Given the description of an element on the screen output the (x, y) to click on. 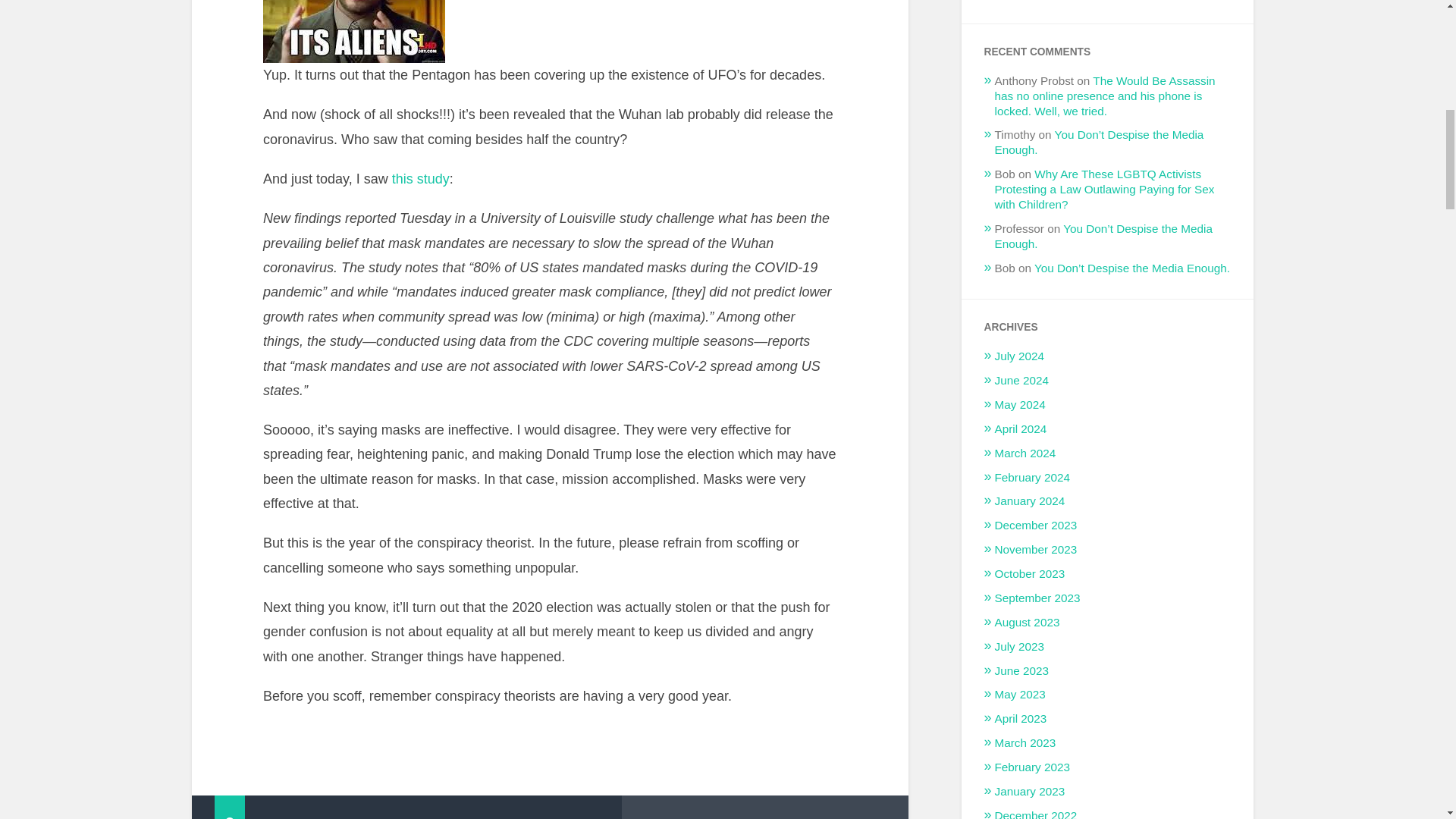
July 2024 (1018, 355)
June 2024 (1021, 379)
May 2024 (1019, 404)
this study (418, 178)
April 2024 (1020, 428)
